Given the description of an element on the screen output the (x, y) to click on. 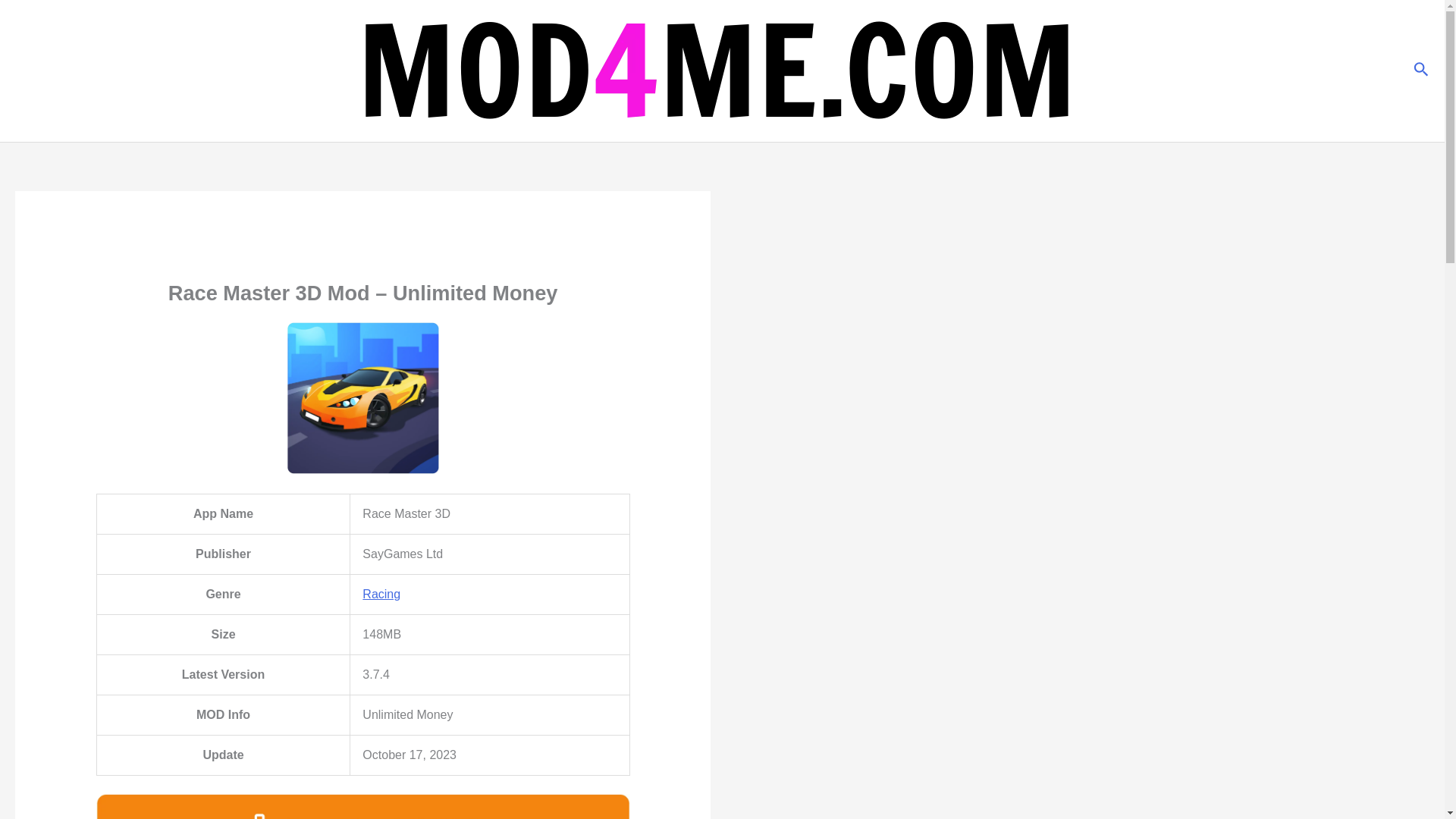
Racing (381, 594)
